Given the description of an element on the screen output the (x, y) to click on. 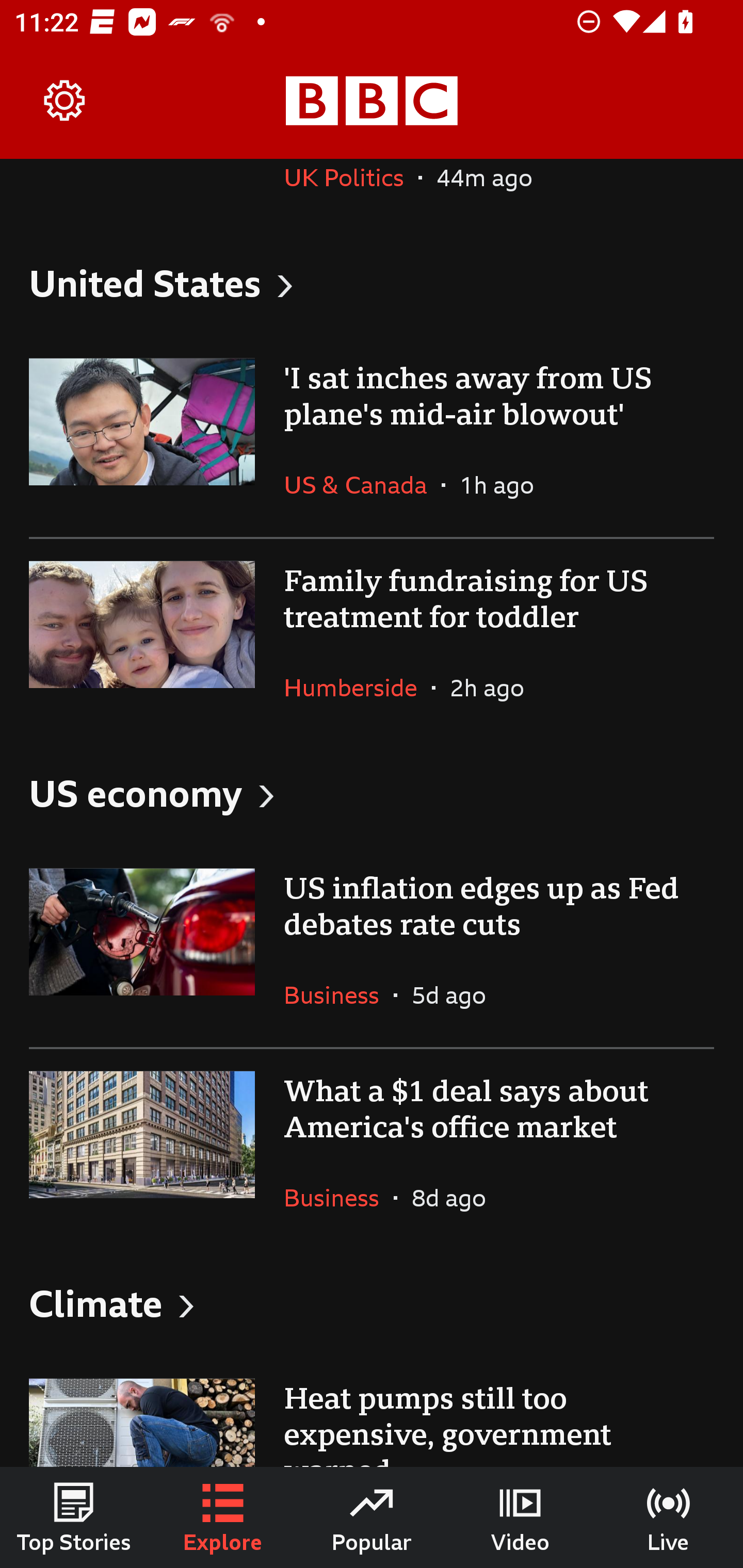
Settings (64, 100)
UK Politics In the section UK Politics (350, 193)
United States, Heading United States    (371, 281)
US & Canada In the section US & Canada (362, 484)
Humberside In the section Humberside (357, 687)
US economy, Heading US economy    (371, 793)
Business In the section Business (338, 994)
Business In the section Business (338, 1197)
Climate, Heading Climate    (371, 1302)
Heat pumps still too expensive, government warned (371, 1411)
Top Stories (74, 1517)
Popular (371, 1517)
Video (519, 1517)
Live (668, 1517)
